Given the description of an element on the screen output the (x, y) to click on. 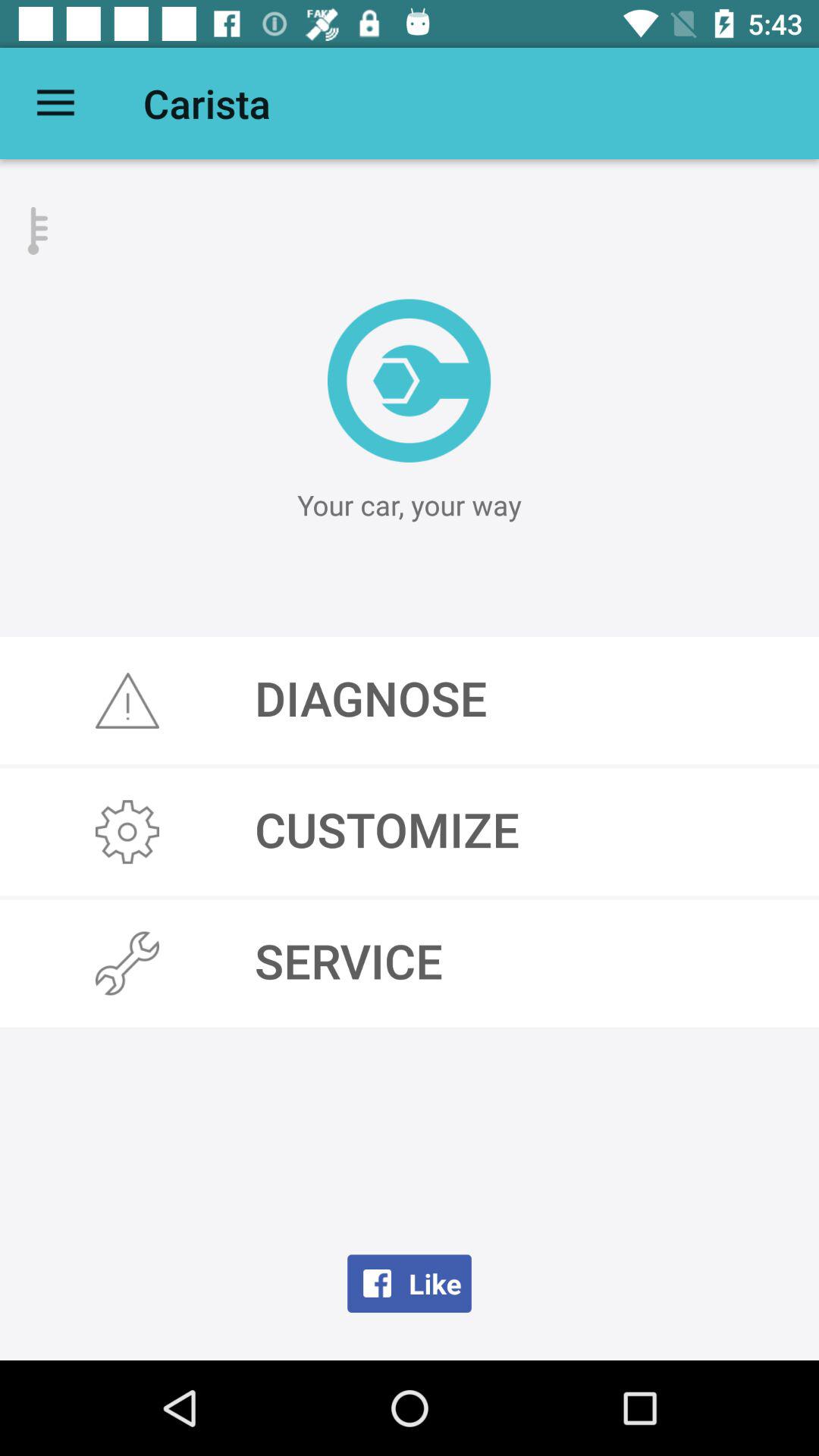
click item next to carista icon (55, 103)
